Given the description of an element on the screen output the (x, y) to click on. 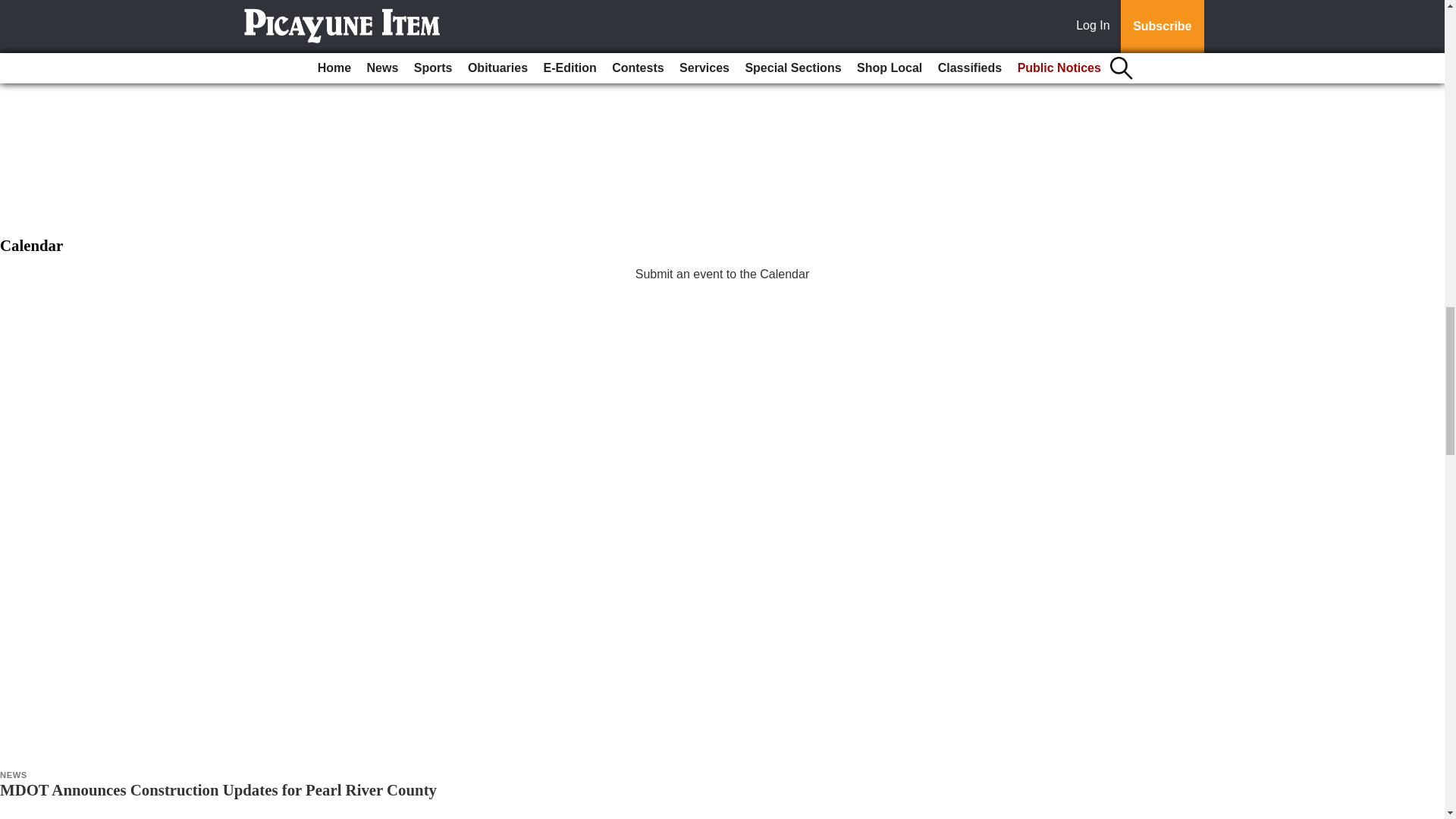
MDOT Announces Construction Updates for Pearl River County (218, 789)
Submit an event to the Calendar (721, 273)
MDOT Announces Construction Updates for Pearl River County (218, 789)
